Given the description of an element on the screen output the (x, y) to click on. 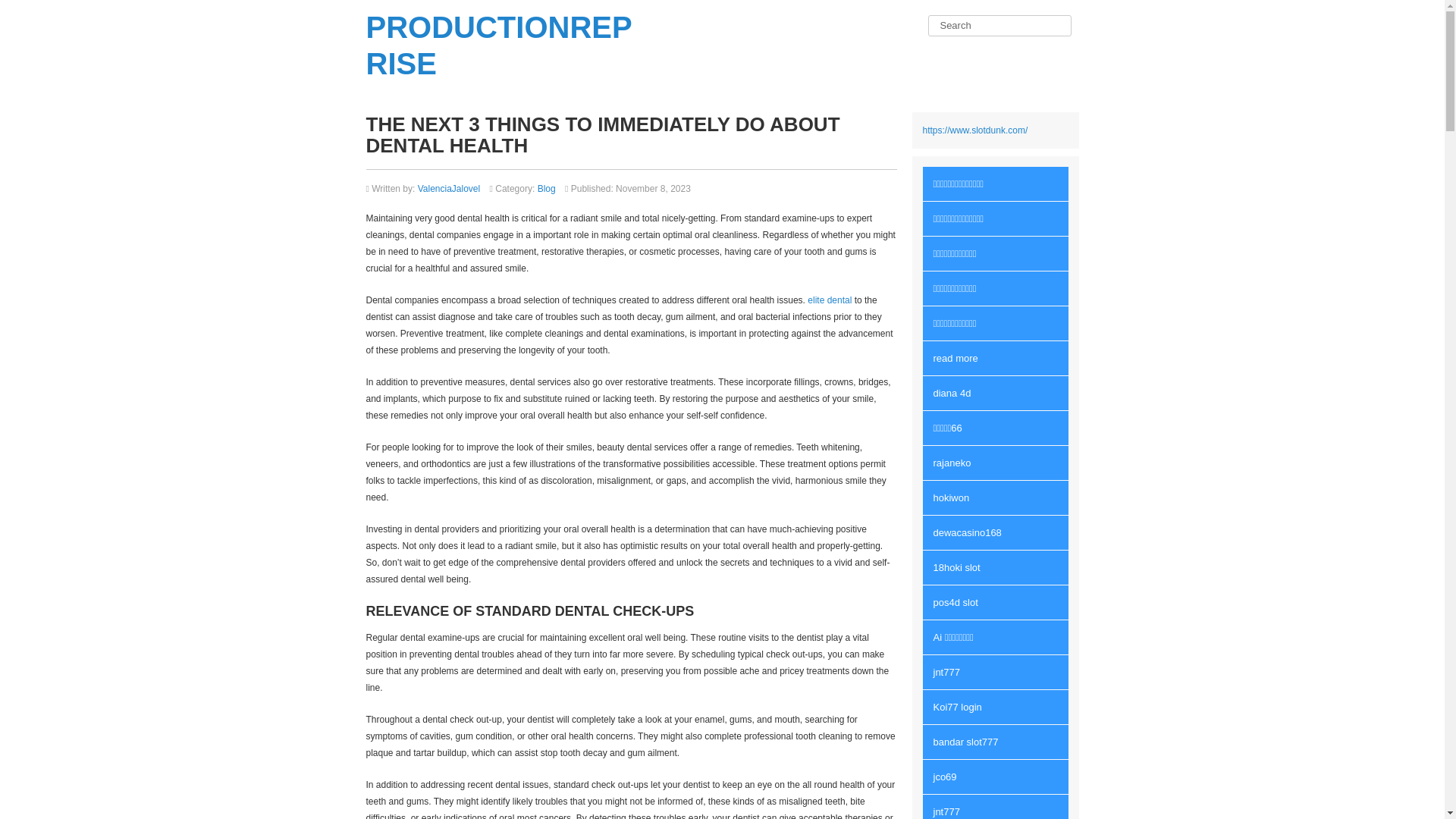
dewacasino168 (994, 532)
bandar slot777 (994, 741)
PRODUCTIONREPRISE (498, 45)
Blog (546, 188)
jnt777 (994, 806)
productionreprise (498, 45)
18hoki slot (994, 567)
Koi77 login (994, 706)
rajaneko (994, 462)
jnt777 (994, 672)
read more (994, 358)
elite dental (829, 299)
ValenciaJalovel (448, 188)
jco69 (994, 776)
hokiwon (994, 497)
